Given the description of an element on the screen output the (x, y) to click on. 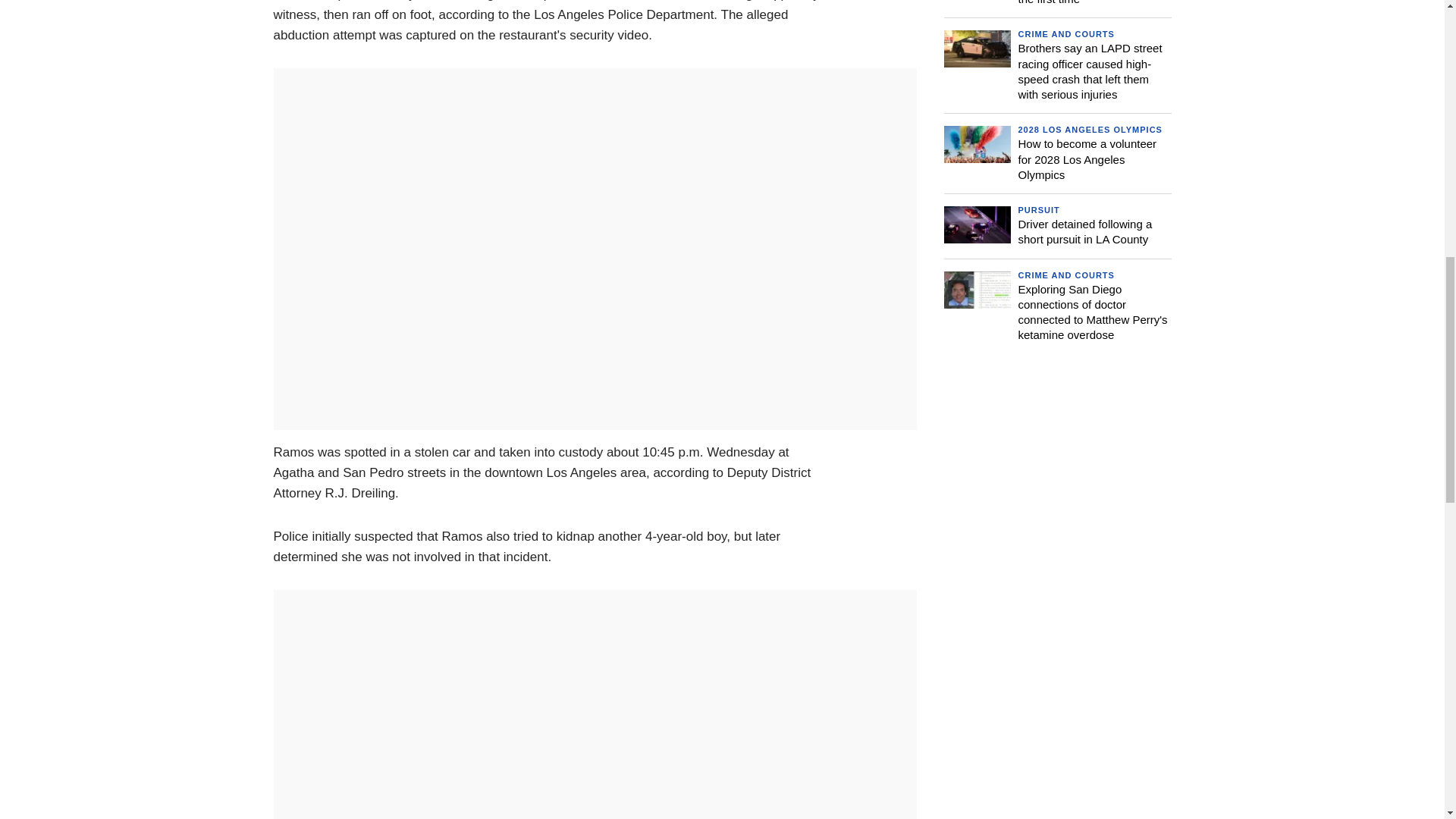
2028 LOS ANGELES OLYMPICS (1089, 129)
3rd party ad content (1056, 471)
Driver detained following a short pursuit in LA County (1084, 231)
PURSUIT (1038, 209)
CRIME AND COURTS (1065, 33)
How to become a volunteer for 2028 Los Angeles Olympics (1086, 158)
